Given the description of an element on the screen output the (x, y) to click on. 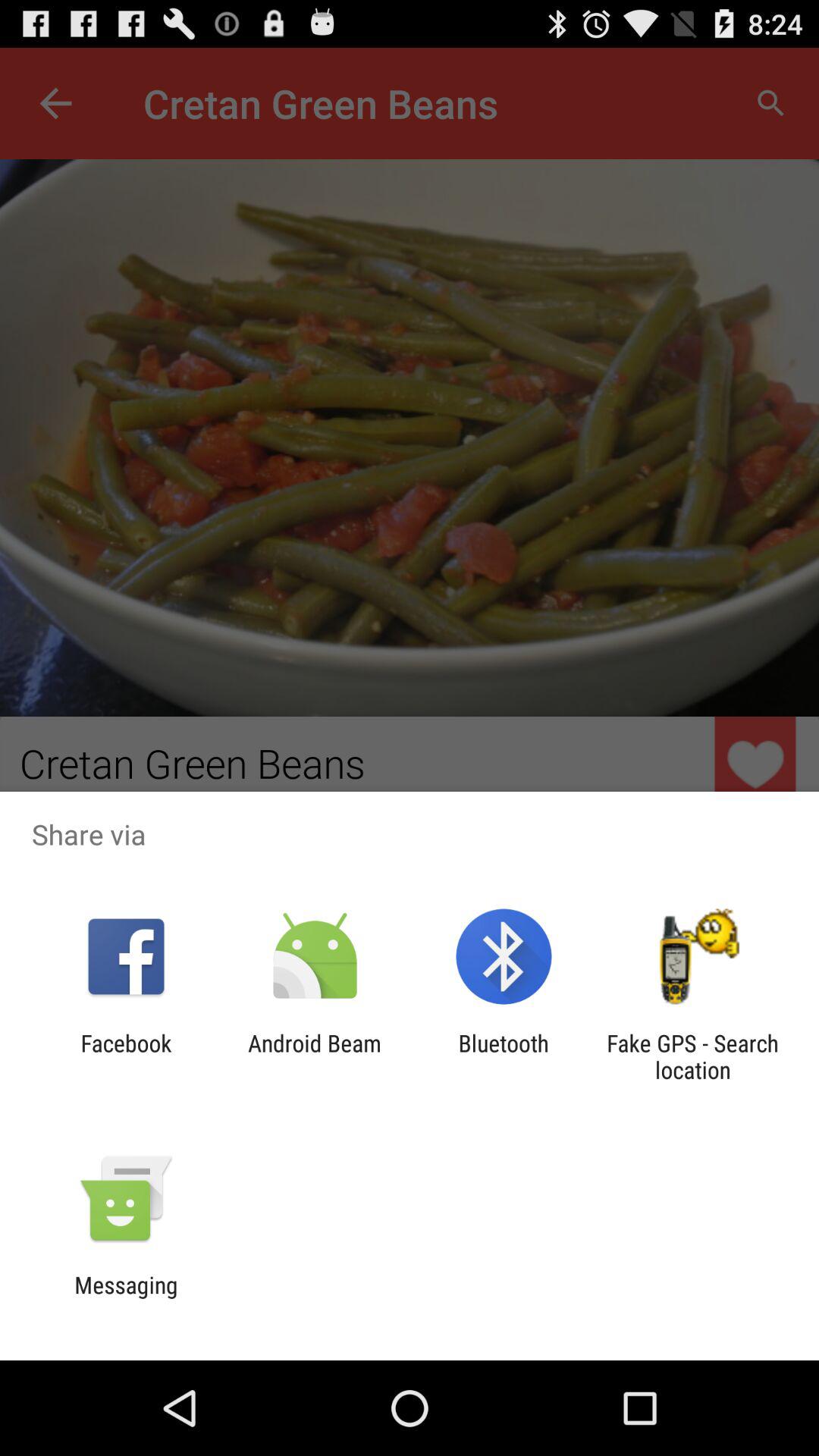
click the app to the right of facebook icon (314, 1056)
